Given the description of an element on the screen output the (x, y) to click on. 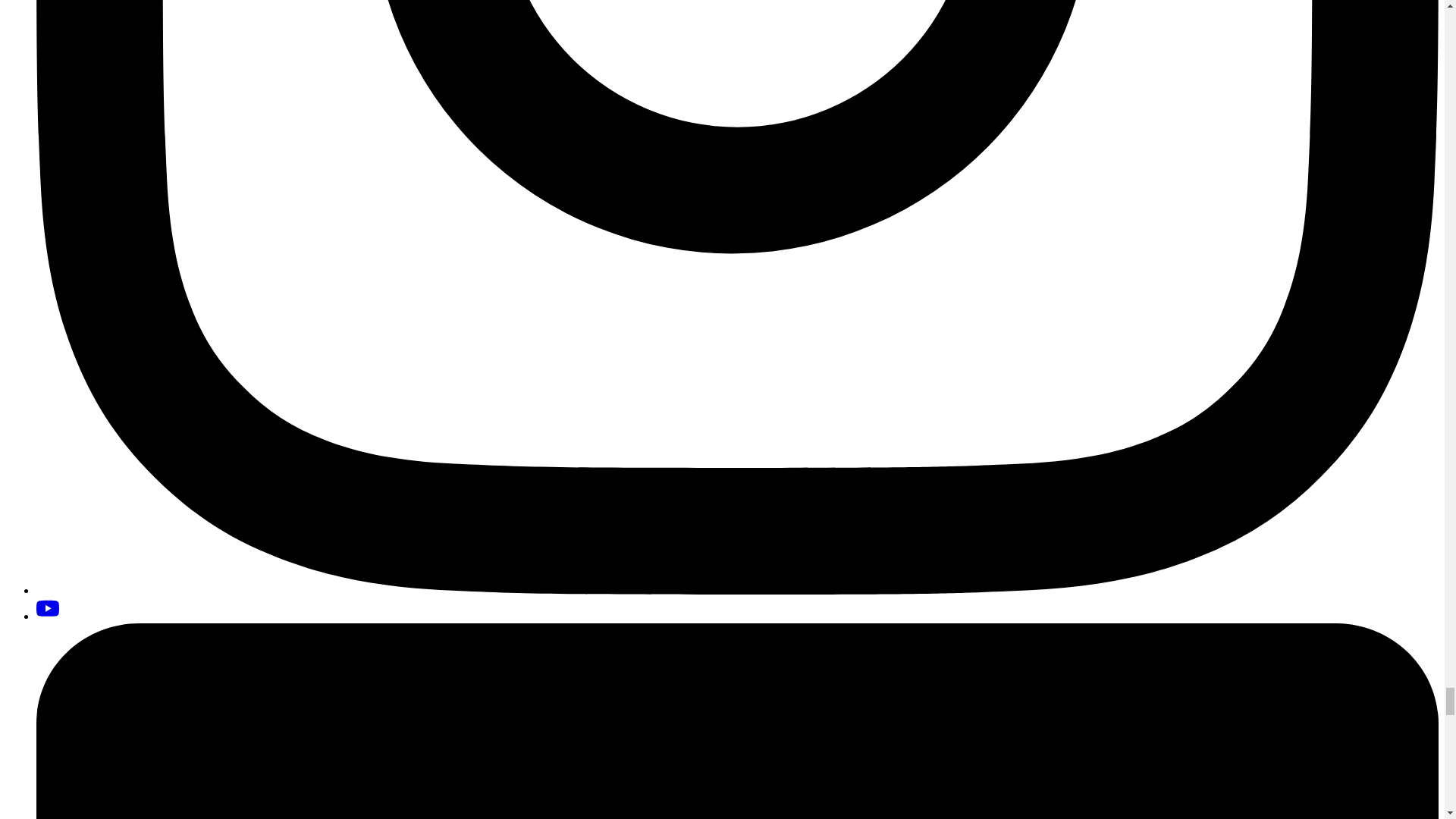
YouTube (47, 608)
